Given the description of an element on the screen output the (x, y) to click on. 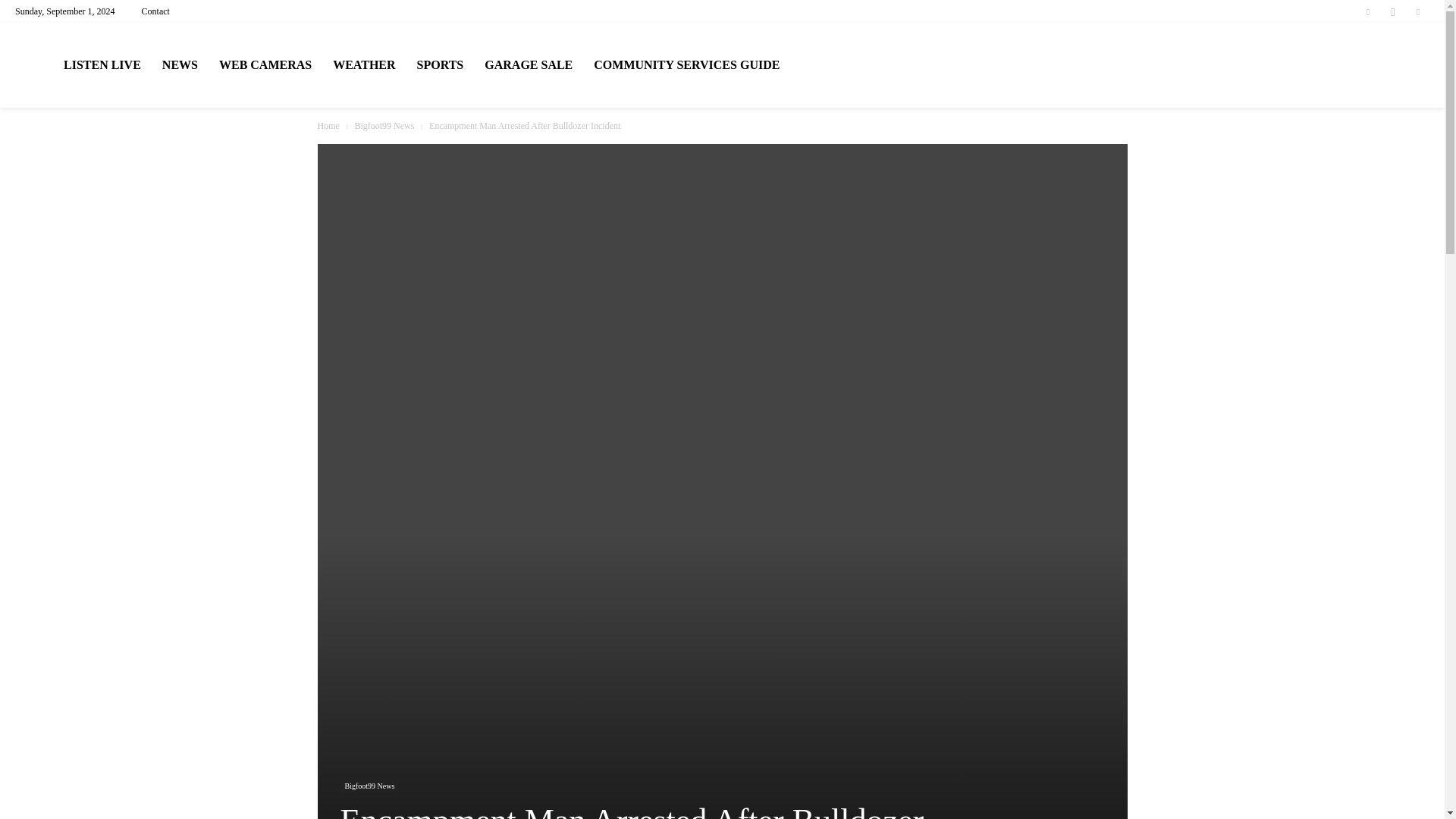
LISTEN LIVE (101, 64)
View all posts in Bigfoot99 News (383, 125)
Bigfoot99 News (383, 125)
WEATHER (363, 64)
Bigfoot99 News (368, 786)
GARAGE SALE (528, 64)
Contact (155, 10)
Twitter (1417, 11)
Instagram (1393, 11)
COMMUNITY SERVICES GUIDE (686, 64)
